Given the description of an element on the screen output the (x, y) to click on. 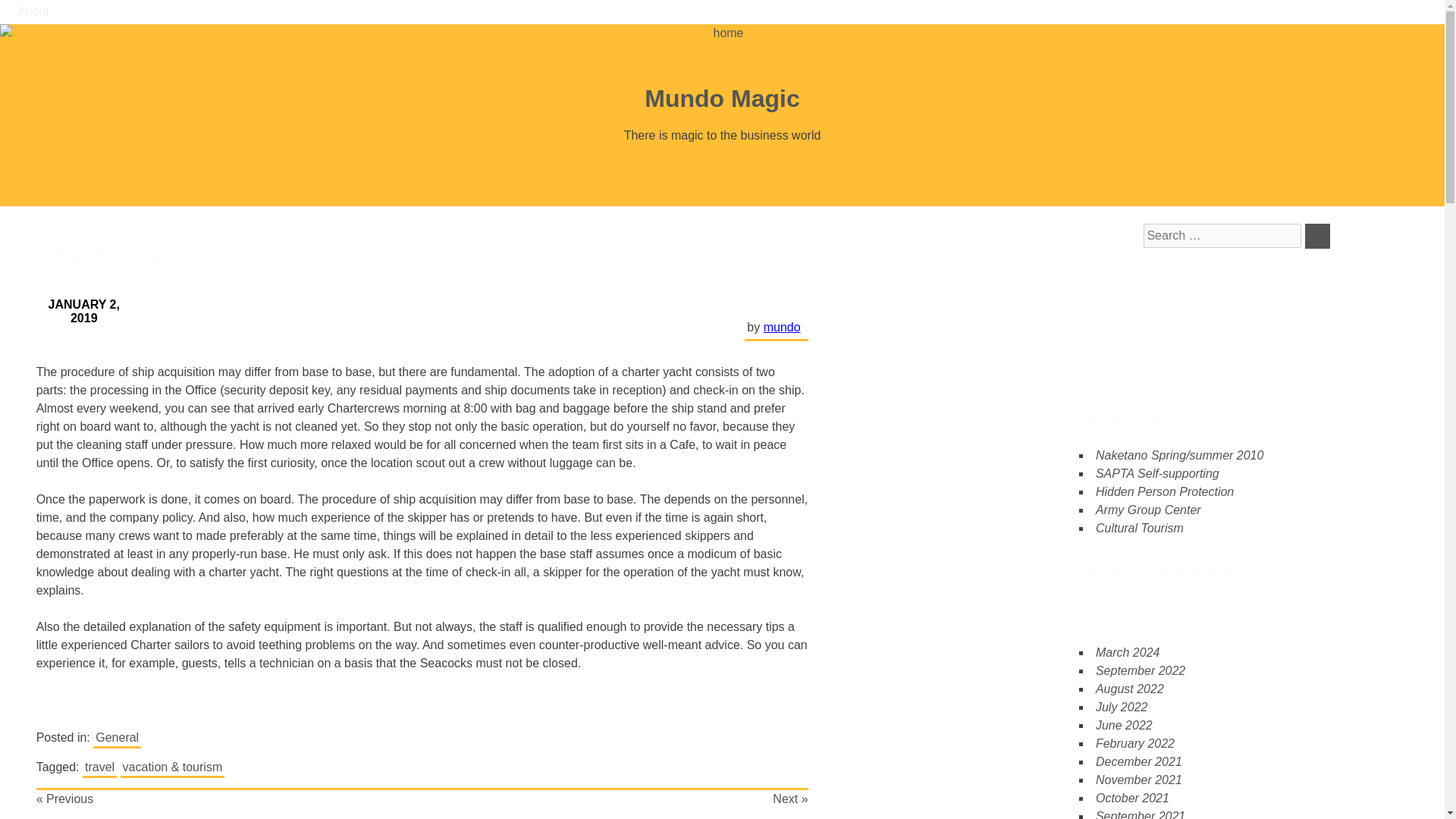
November 2021 (1139, 779)
August 2022 (1129, 688)
March 2024 (1128, 652)
Hidden Person Protection (1164, 491)
Army Group Center (1148, 509)
Cultural Tourism (1139, 527)
July 2022 (1122, 707)
December 2021 (1139, 761)
September 2022 (1140, 670)
Mundo Magic (722, 98)
